Given the description of an element on the screen output the (x, y) to click on. 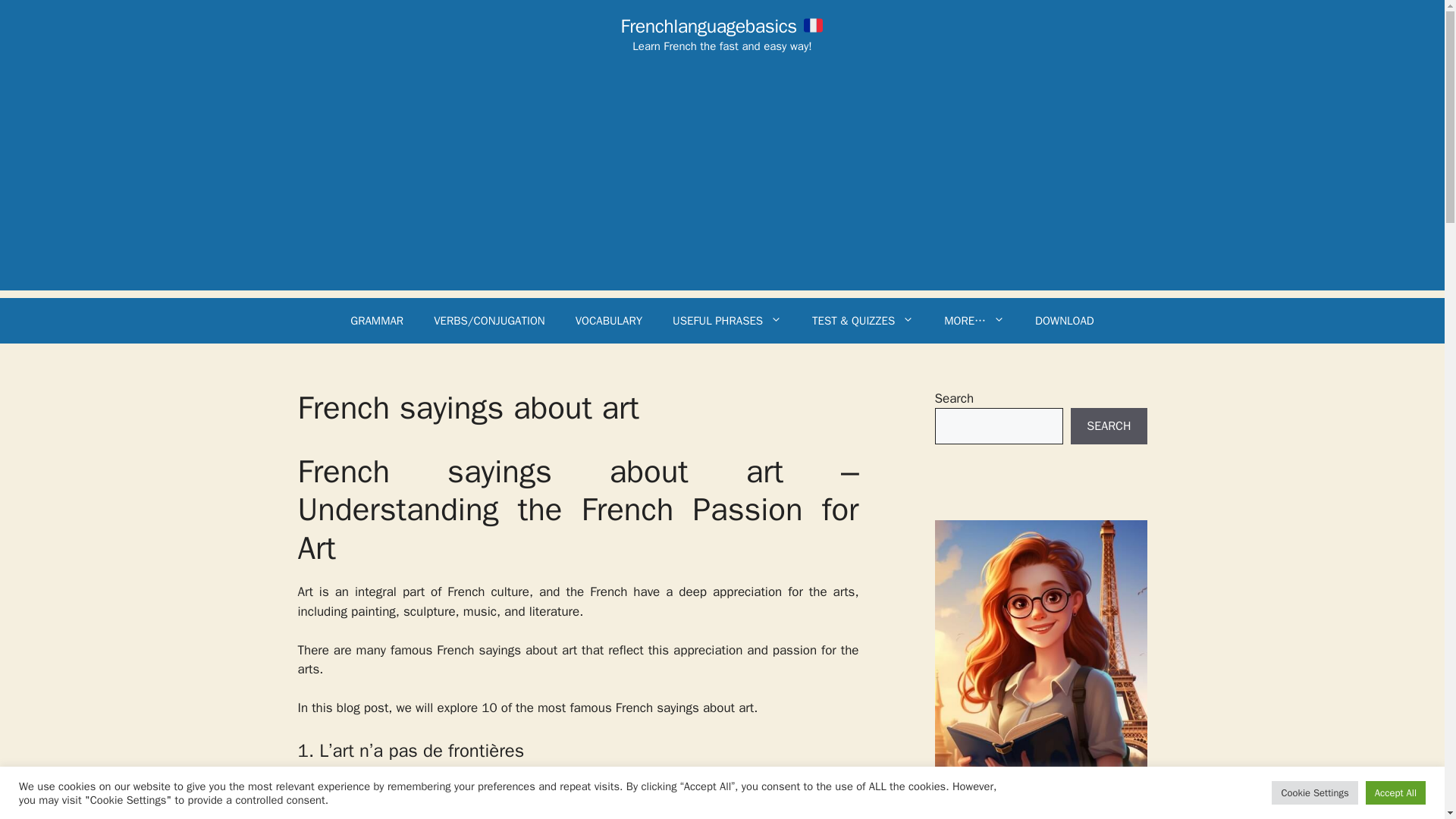
SEARCH (1108, 425)
USEFUL PHRASES (727, 320)
GRAMMAR (376, 320)
VOCABULARY (609, 320)
Accept All (1395, 792)
Frenchlanguagebasics (722, 25)
DOWNLOAD (1064, 320)
Cookie Settings (1313, 792)
